Given the description of an element on the screen output the (x, y) to click on. 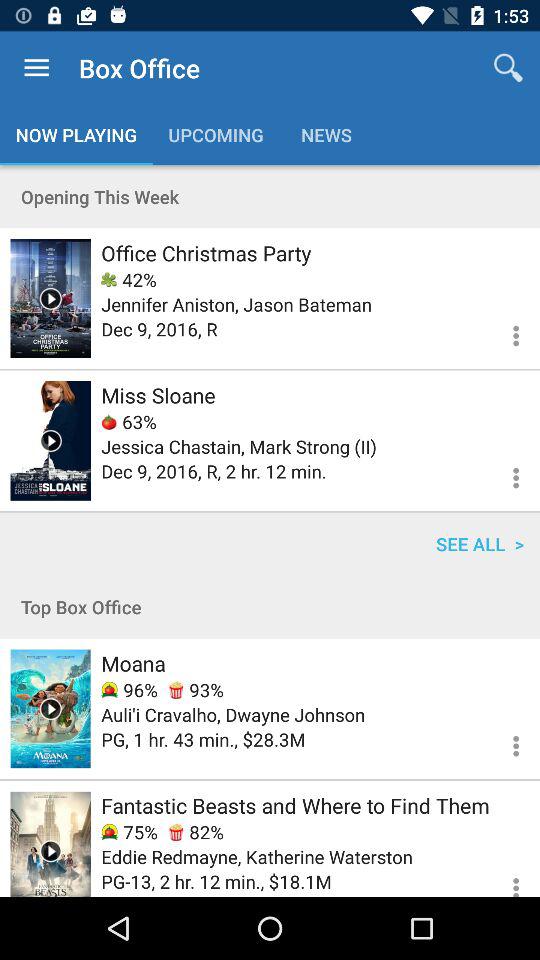
party (50, 298)
